Given the description of an element on the screen output the (x, y) to click on. 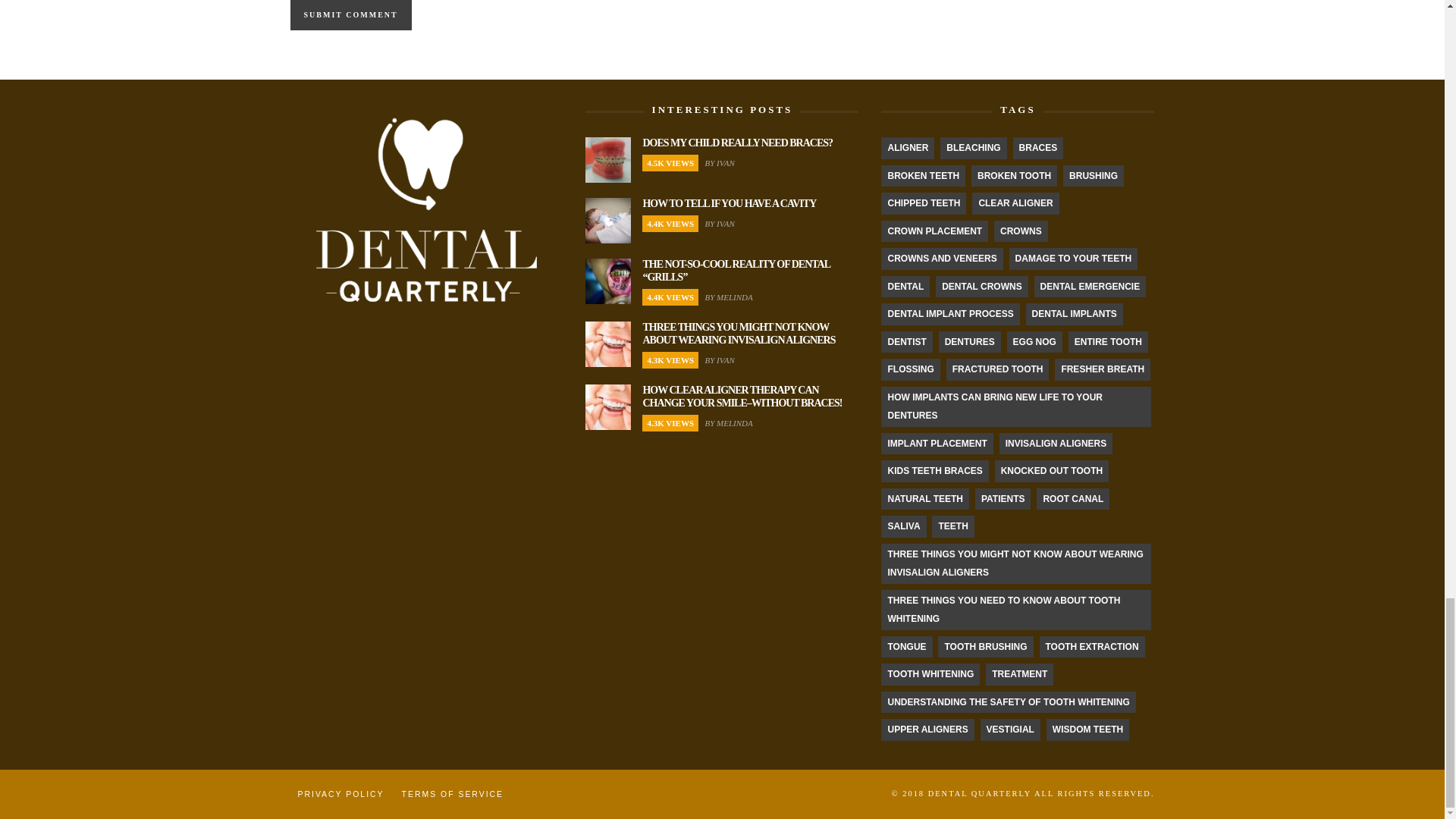
Submit comment (349, 15)
